Given the description of an element on the screen output the (x, y) to click on. 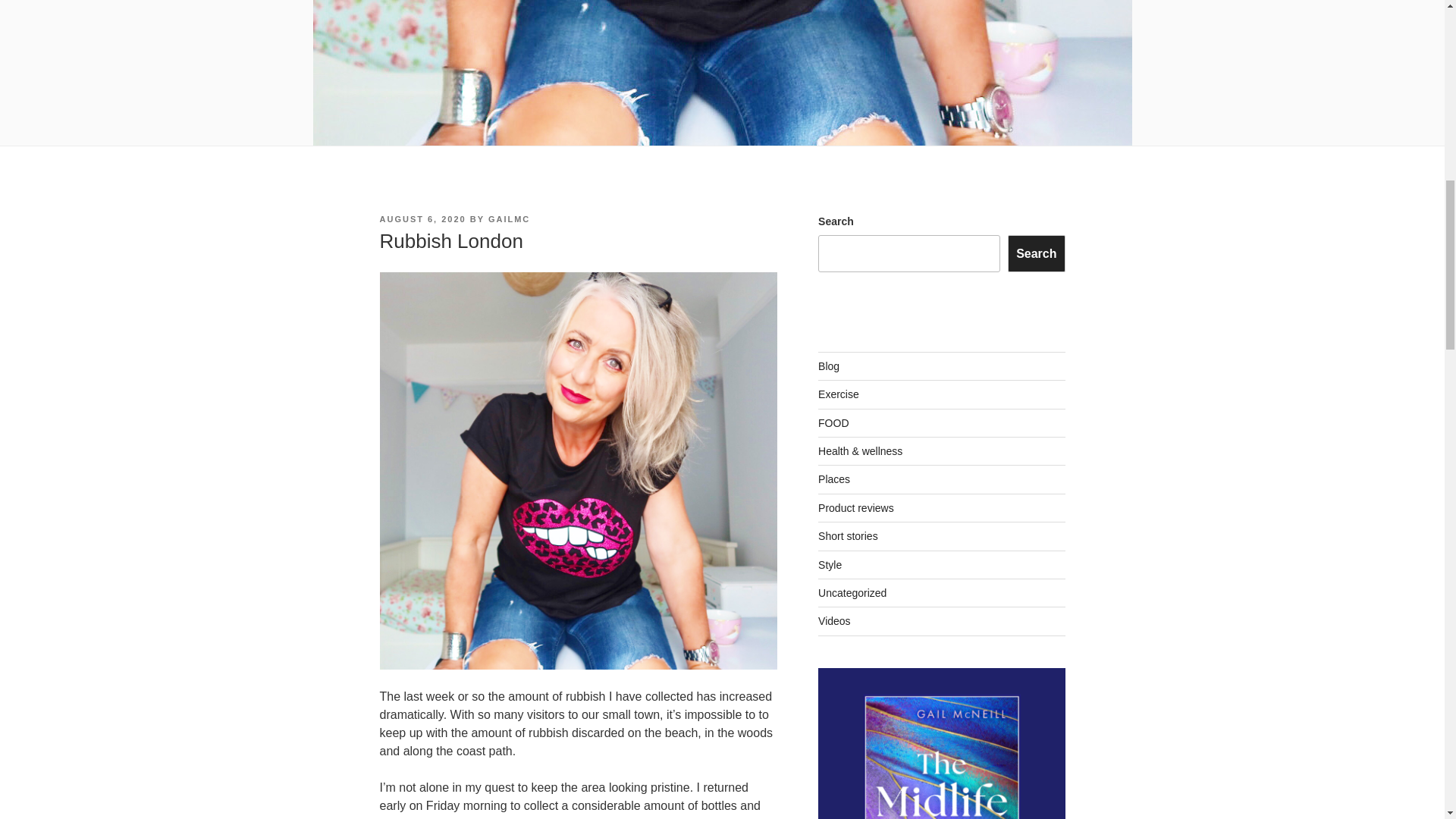
Places (834, 479)
AUGUST 6, 2020 (421, 218)
Blog (829, 366)
Search (1035, 253)
Product reviews (855, 508)
GAILMC (508, 218)
Exercise (838, 394)
FOOD (833, 422)
